Given the description of an element on the screen output the (x, y) to click on. 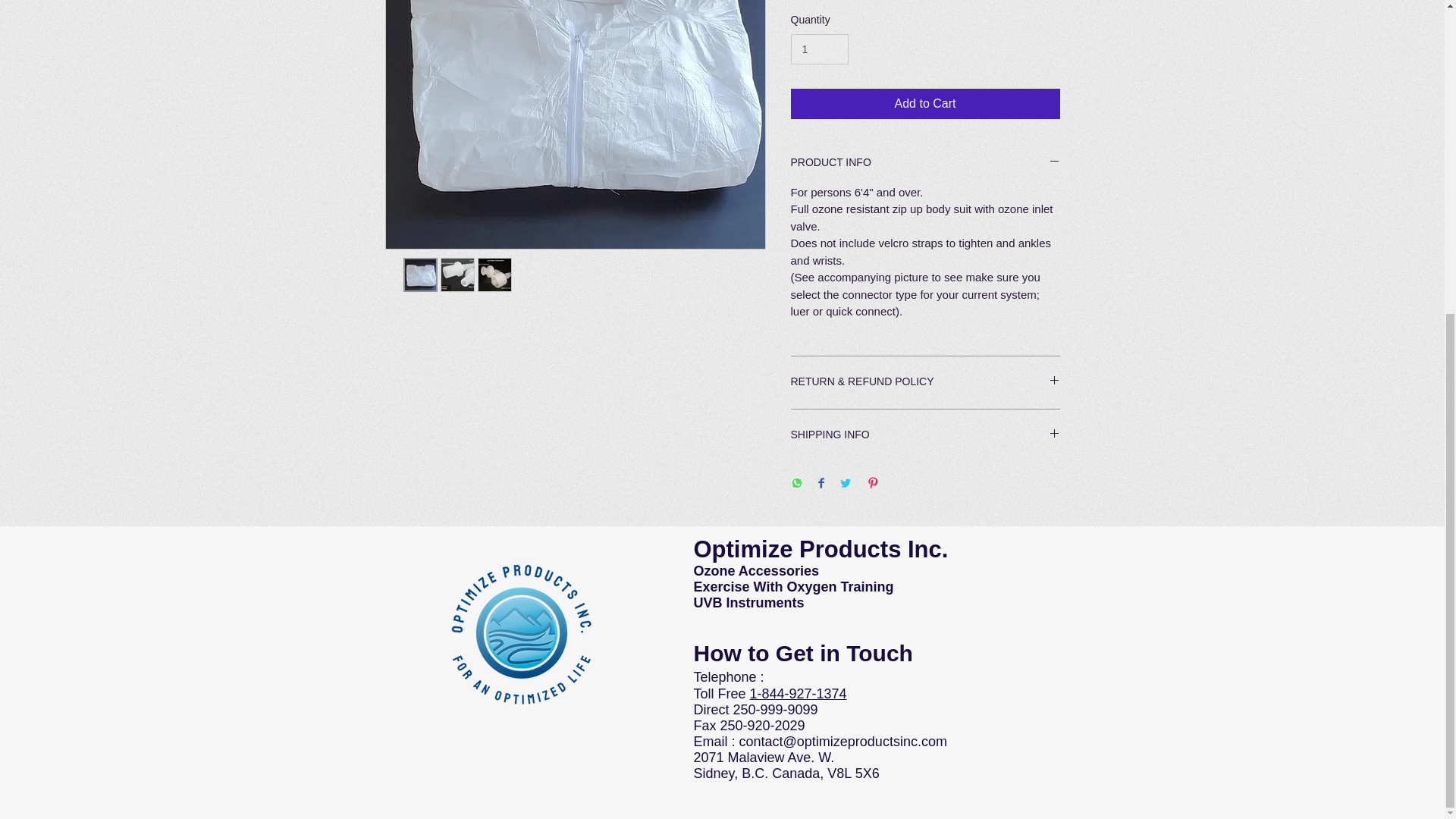
PRODUCT INFO (924, 163)
SHIPPING INFO (924, 435)
Add to Cart (924, 103)
1 (818, 49)
